Given the description of an element on the screen output the (x, y) to click on. 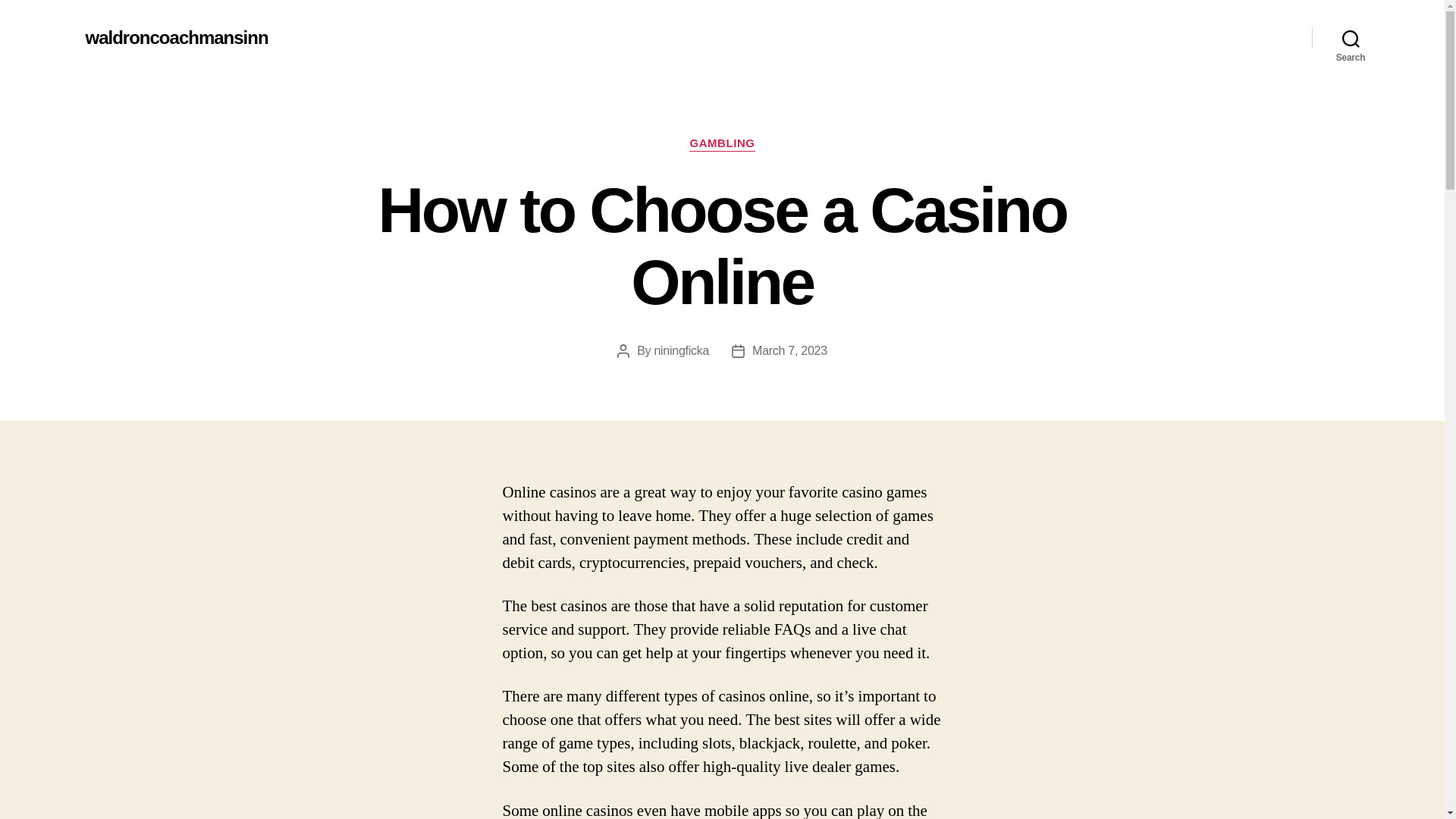
GAMBLING (721, 143)
niningficka (681, 350)
March 7, 2023 (789, 350)
Search (1350, 37)
waldroncoachmansinn (175, 37)
